Given the description of an element on the screen output the (x, y) to click on. 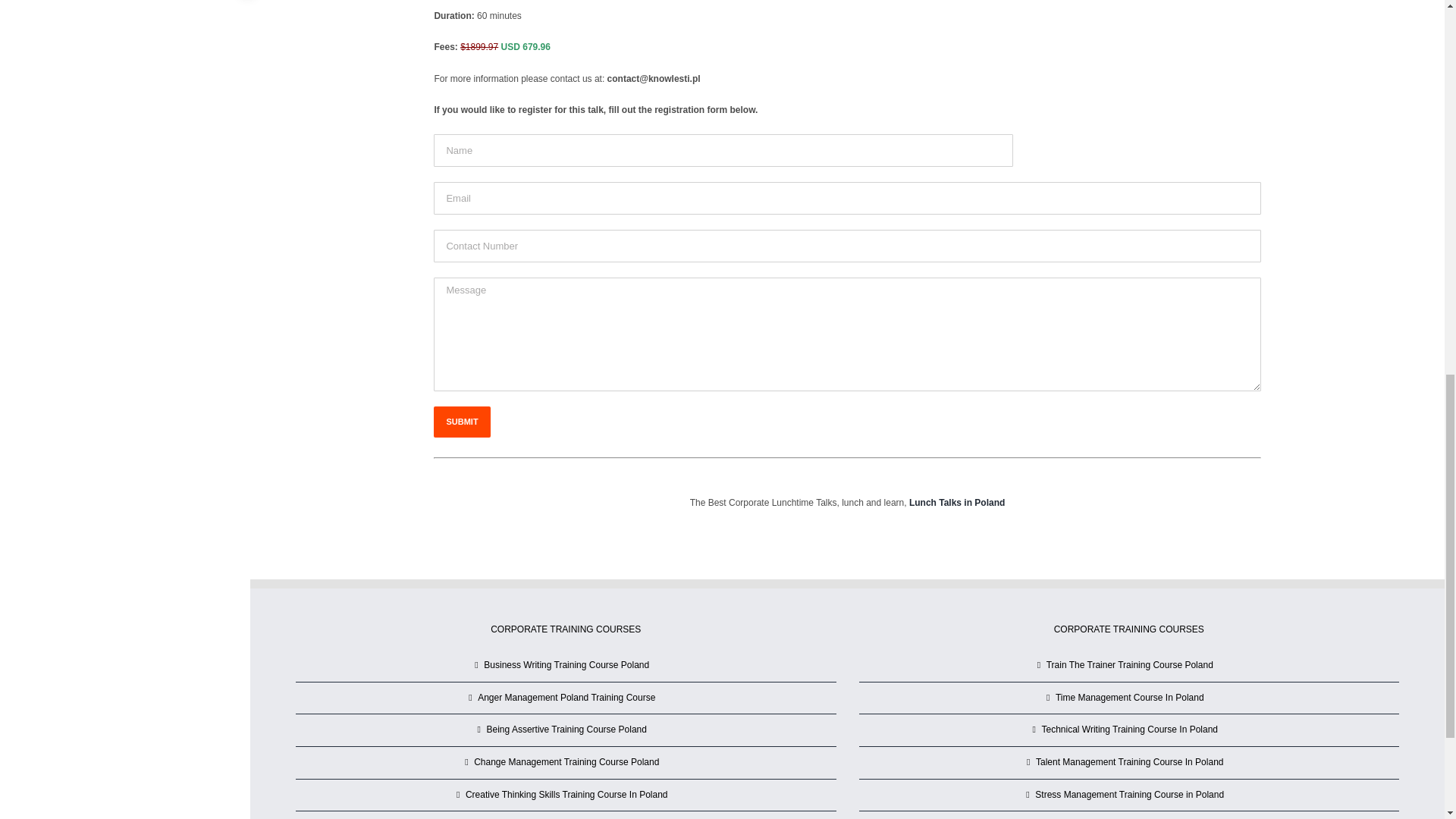
Change Management Training Course Poland (566, 762)
Stress Management Training Course in Poland (1129, 795)
Lunch Talks in Poland (956, 502)
Creative Thinking Skills Training Course In Poland (566, 795)
submit (461, 421)
Talent Management Training Course In Poland (1129, 762)
submit (461, 421)
Technical Writing Training Course In Poland (1129, 729)
Business Writing Training Course Poland (566, 665)
Being Assertive Training Course Poland (566, 729)
